Given the description of an element on the screen output the (x, y) to click on. 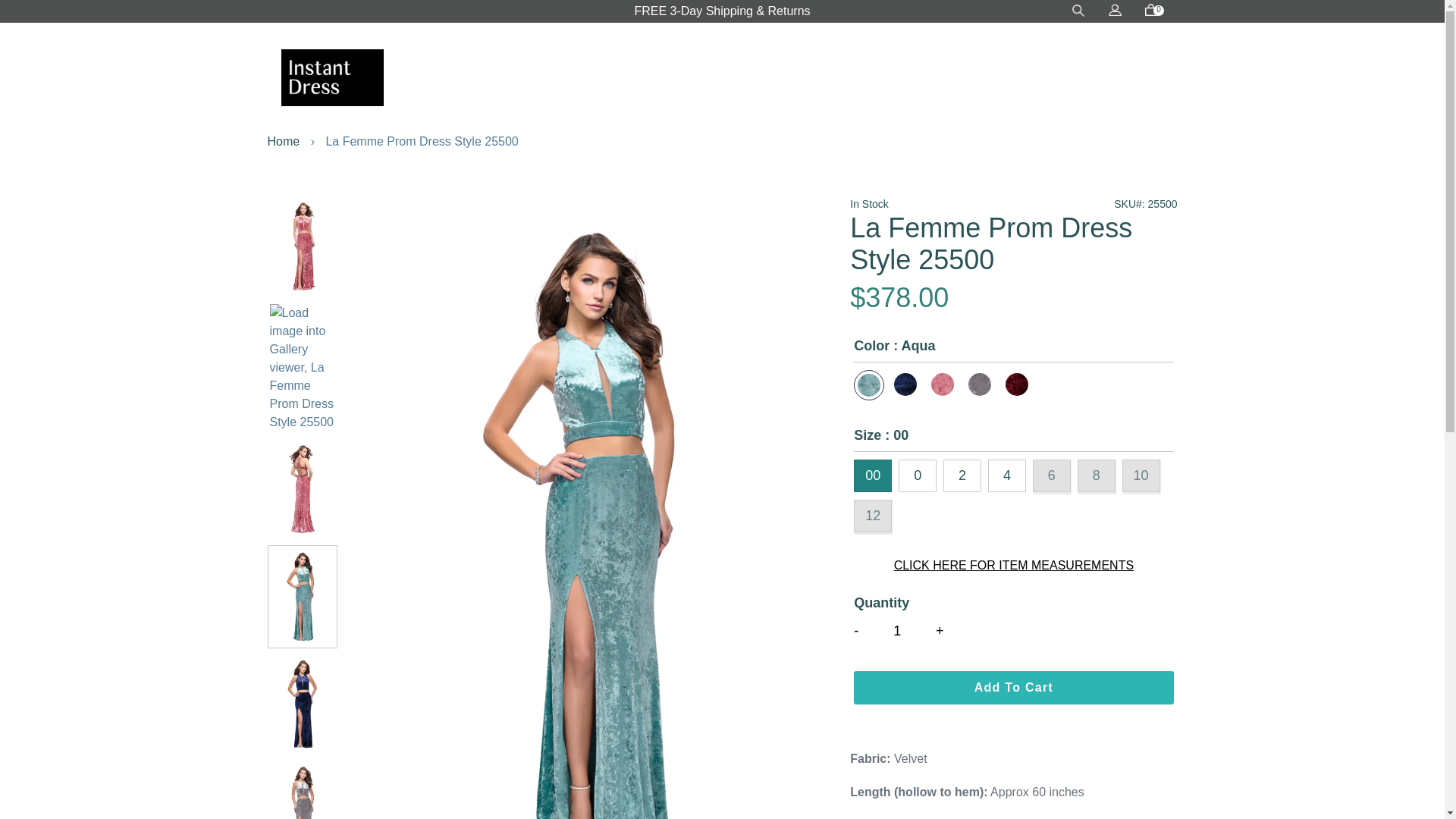
CLICK HERE FOR ITEM MEASUREMENTS (1013, 565)
0 (1150, 11)
Home (282, 141)
Home (282, 141)
1 (906, 631)
Add To Cart (1013, 687)
